Given the description of an element on the screen output the (x, y) to click on. 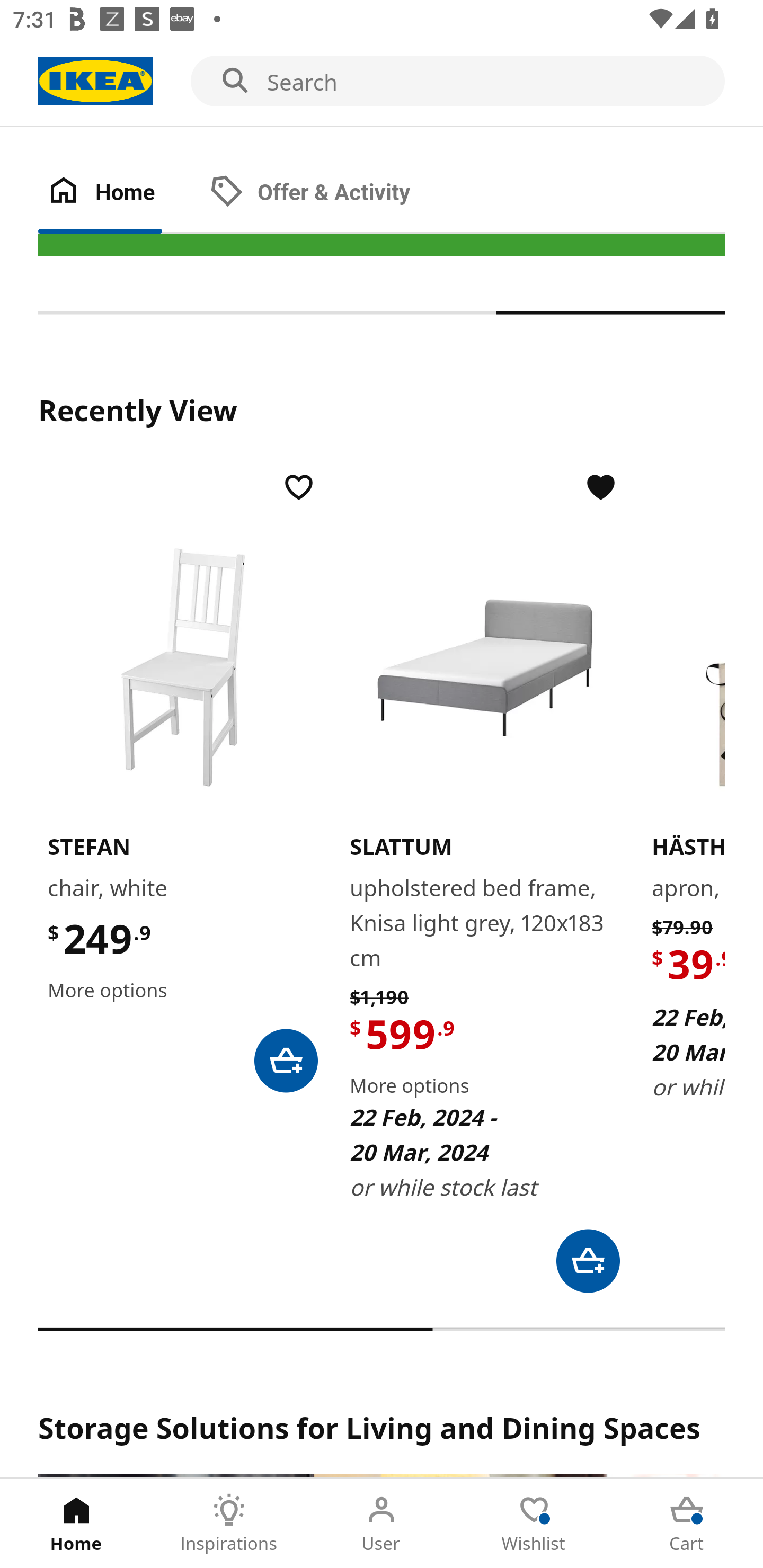
Search (381, 81)
Home
Tab 1 of 2 (118, 192)
Offer & Activity
Tab 2 of 2 (327, 192)
​S​T​E​F​A​N​
chair, white
$
249
.9
More options (182, 780)
Home
Tab 1 of 5 (76, 1522)
Inspirations
Tab 2 of 5 (228, 1522)
User
Tab 3 of 5 (381, 1522)
Wishlist
Tab 4 of 5 (533, 1522)
Cart
Tab 5 of 5 (686, 1522)
